Given the description of an element on the screen output the (x, y) to click on. 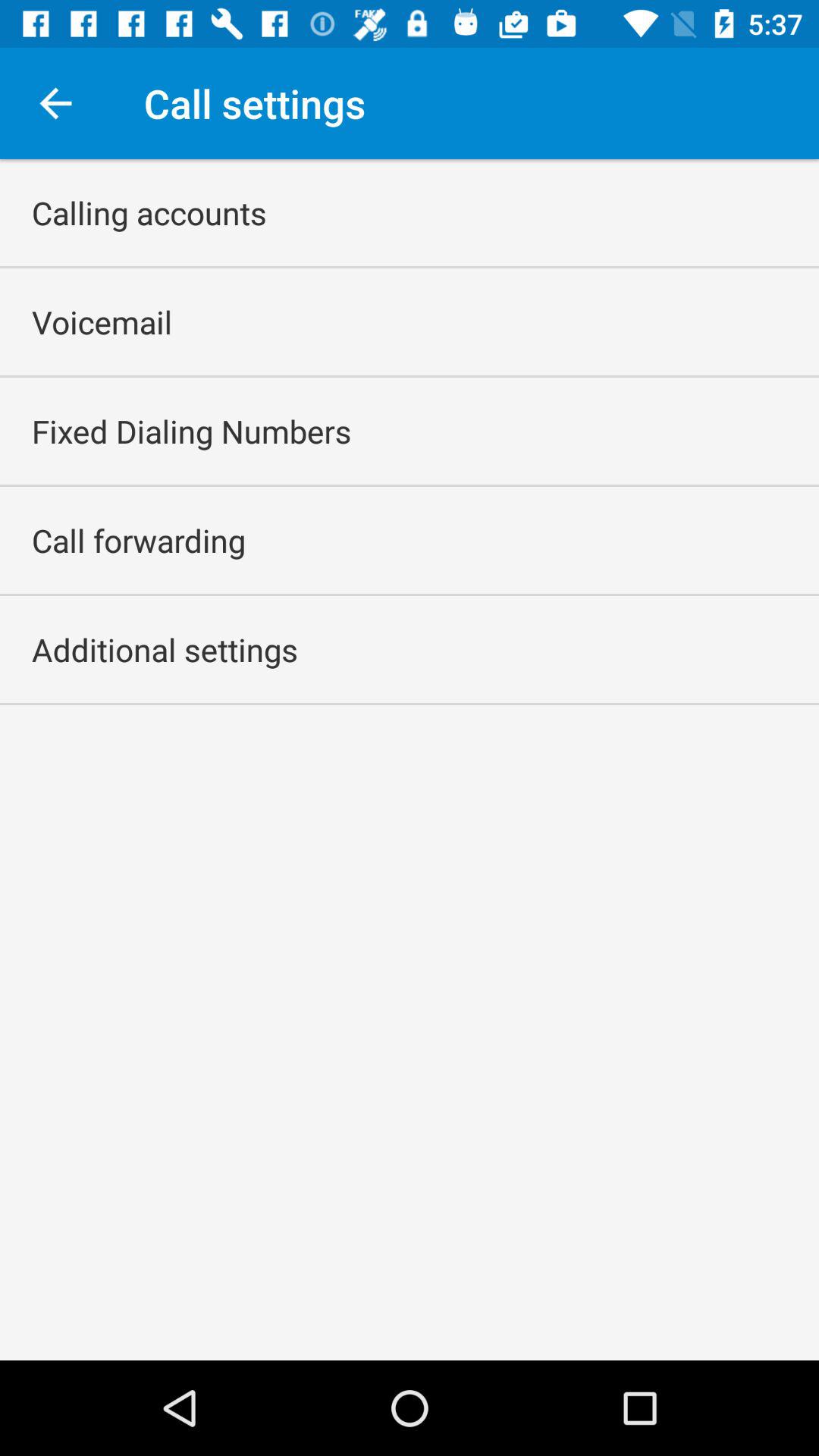
tap item below the call forwarding icon (164, 649)
